Given the description of an element on the screen output the (x, y) to click on. 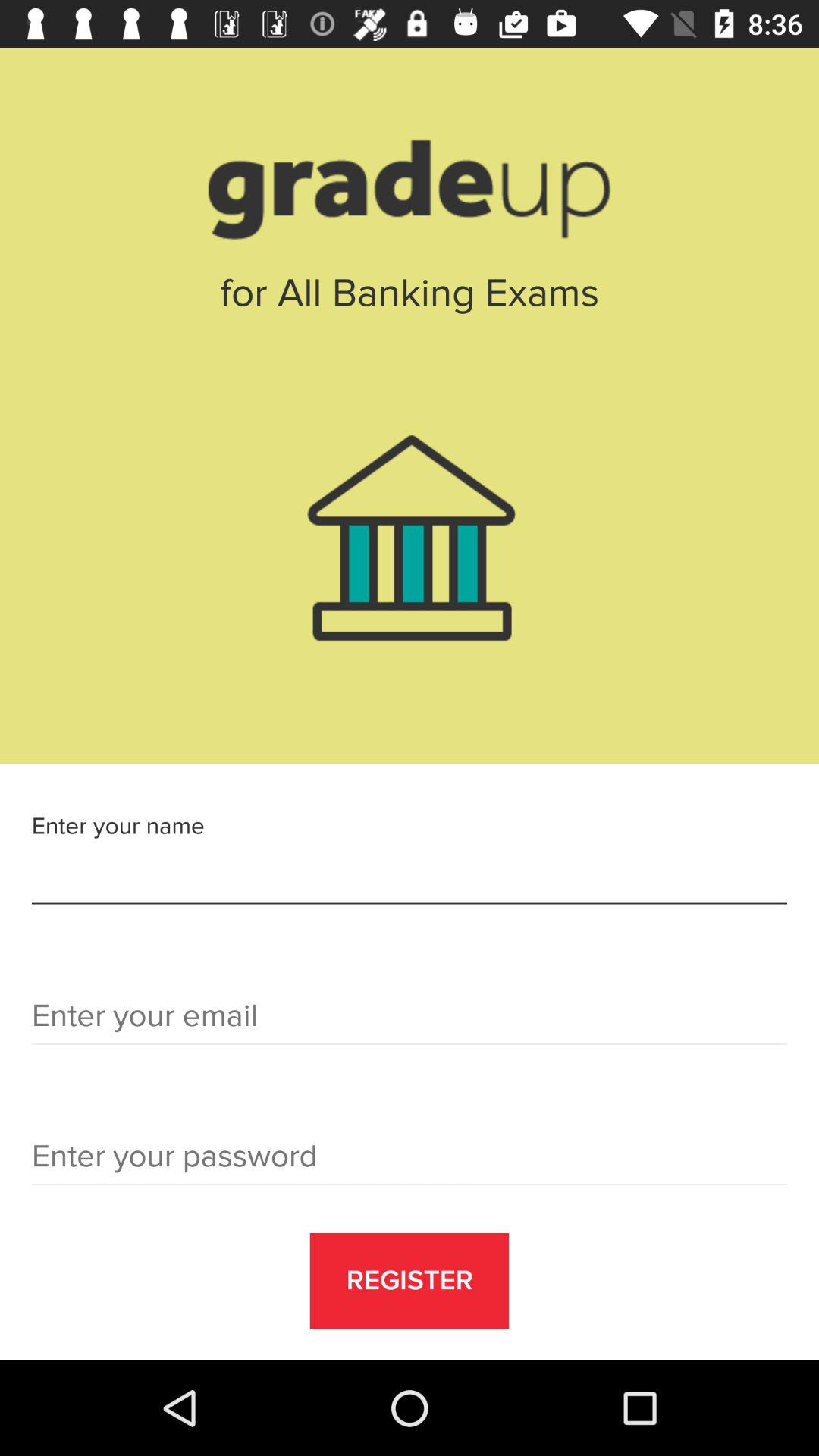
type your email here (409, 1020)
